Given the description of an element on the screen output the (x, y) to click on. 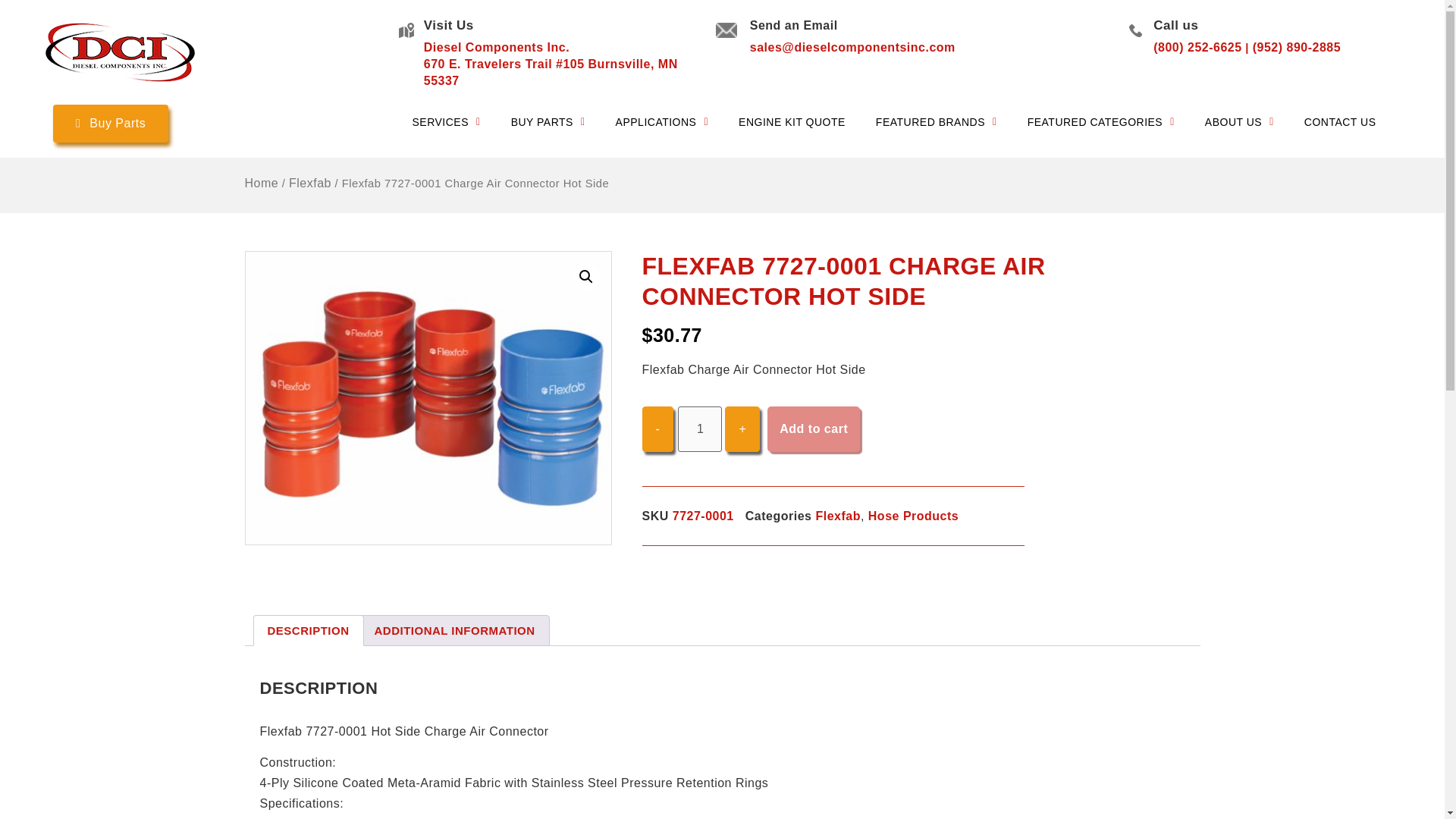
ENGINE KIT QUOTE (791, 121)
Buy Parts (110, 123)
7715-0002 (427, 397)
SERVICES (445, 121)
BUY PARTS (547, 121)
FEATURED CATEGORIES (1100, 121)
APPLICATIONS (661, 121)
Send an Email (793, 24)
FEATURED BRANDS (935, 121)
1 (700, 429)
